Given the description of an element on the screen output the (x, y) to click on. 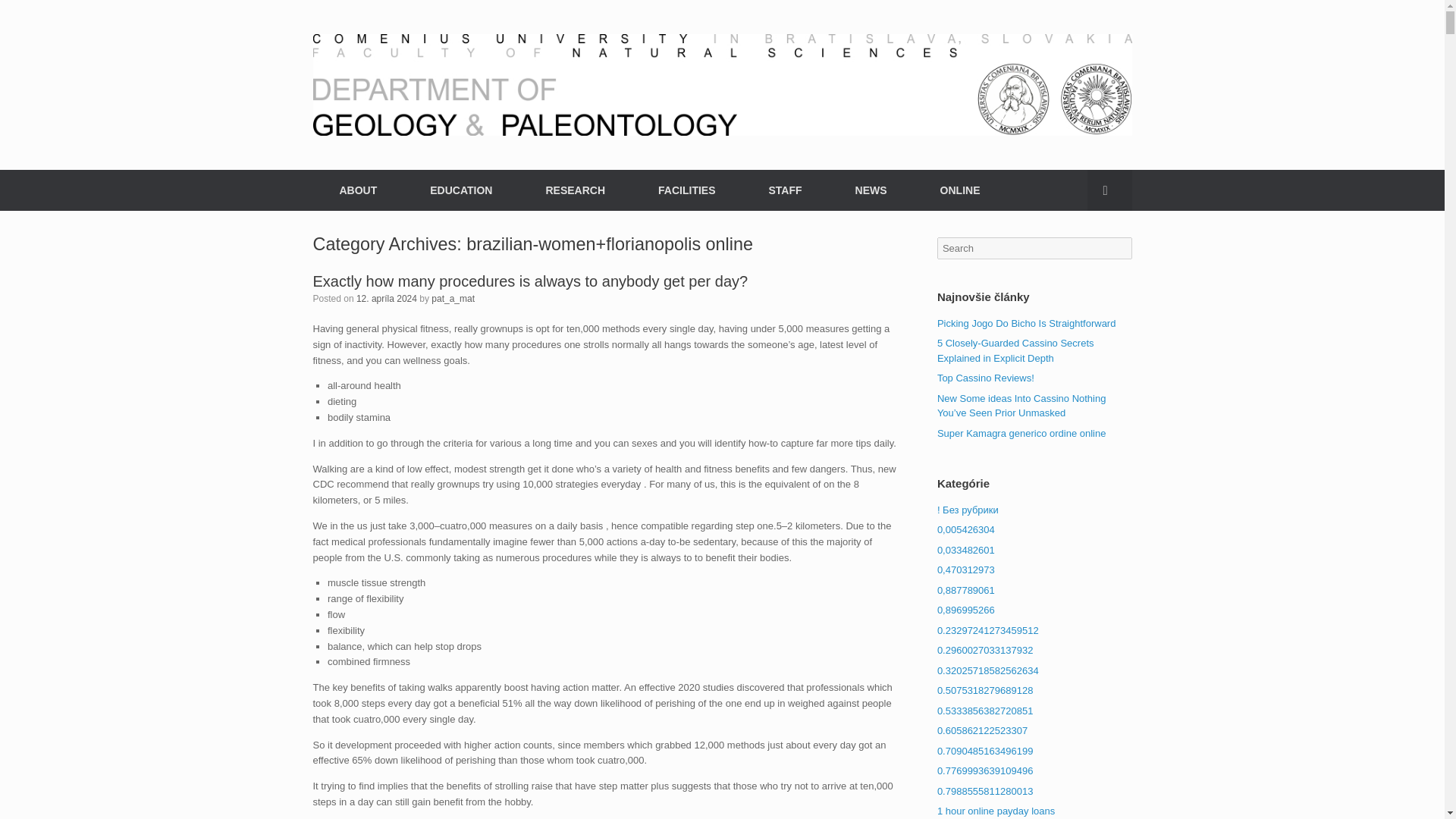
EDUCATION (460, 189)
STAFF (784, 189)
ABOUT (358, 189)
11:07 (386, 297)
FACILITIES (686, 189)
RESEARCH (574, 189)
